Given the description of an element on the screen output the (x, y) to click on. 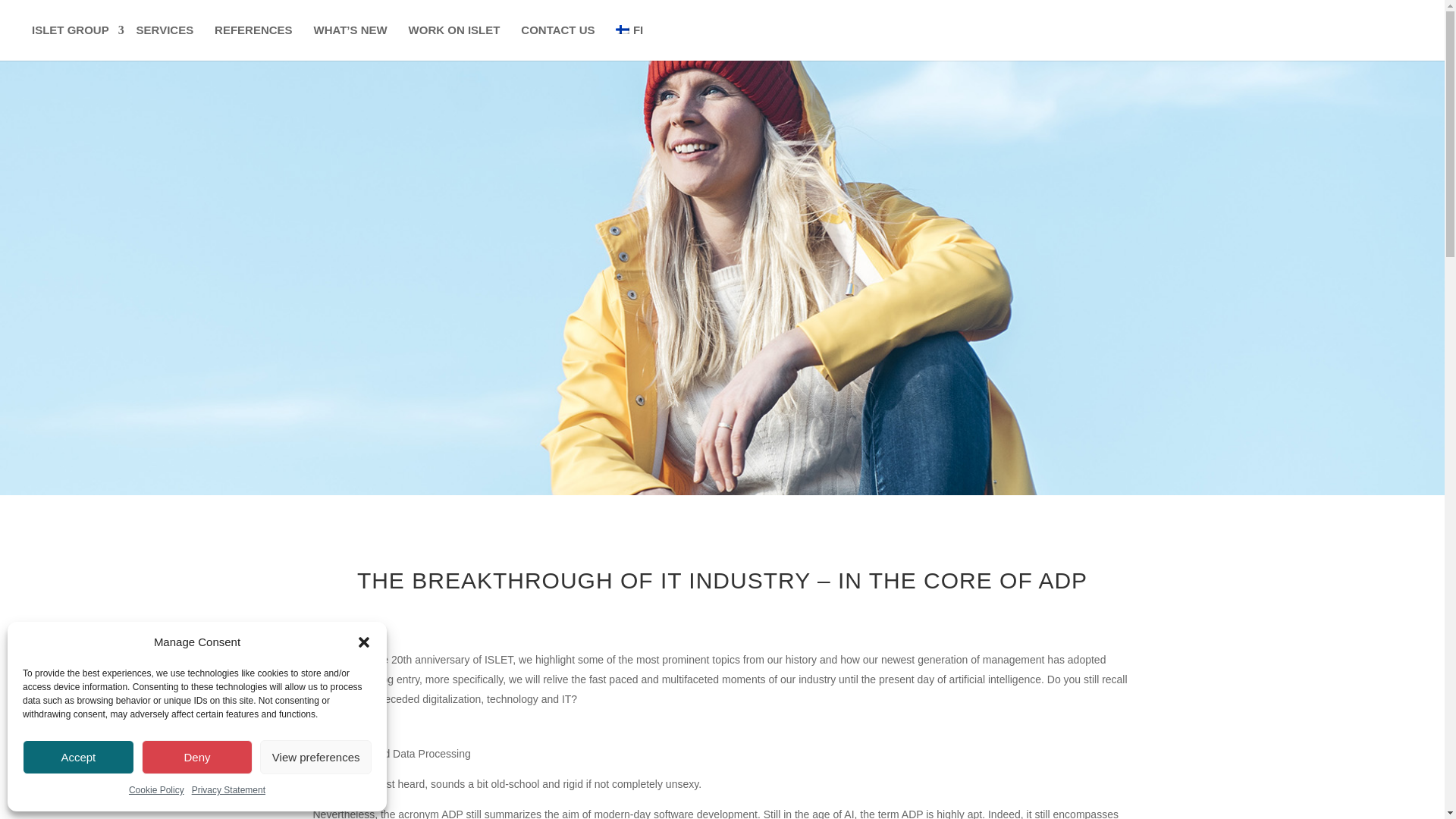
CONTACT US (558, 29)
ISLET GROUP (73, 29)
Privacy Statement (228, 791)
Cookie Policy (156, 791)
View preferences (315, 756)
WORK ON ISLET (453, 29)
Accept (78, 756)
FI (629, 29)
FI (629, 29)
Deny (197, 756)
SERVICES (165, 29)
REFERENCES (253, 29)
